Given the description of an element on the screen output the (x, y) to click on. 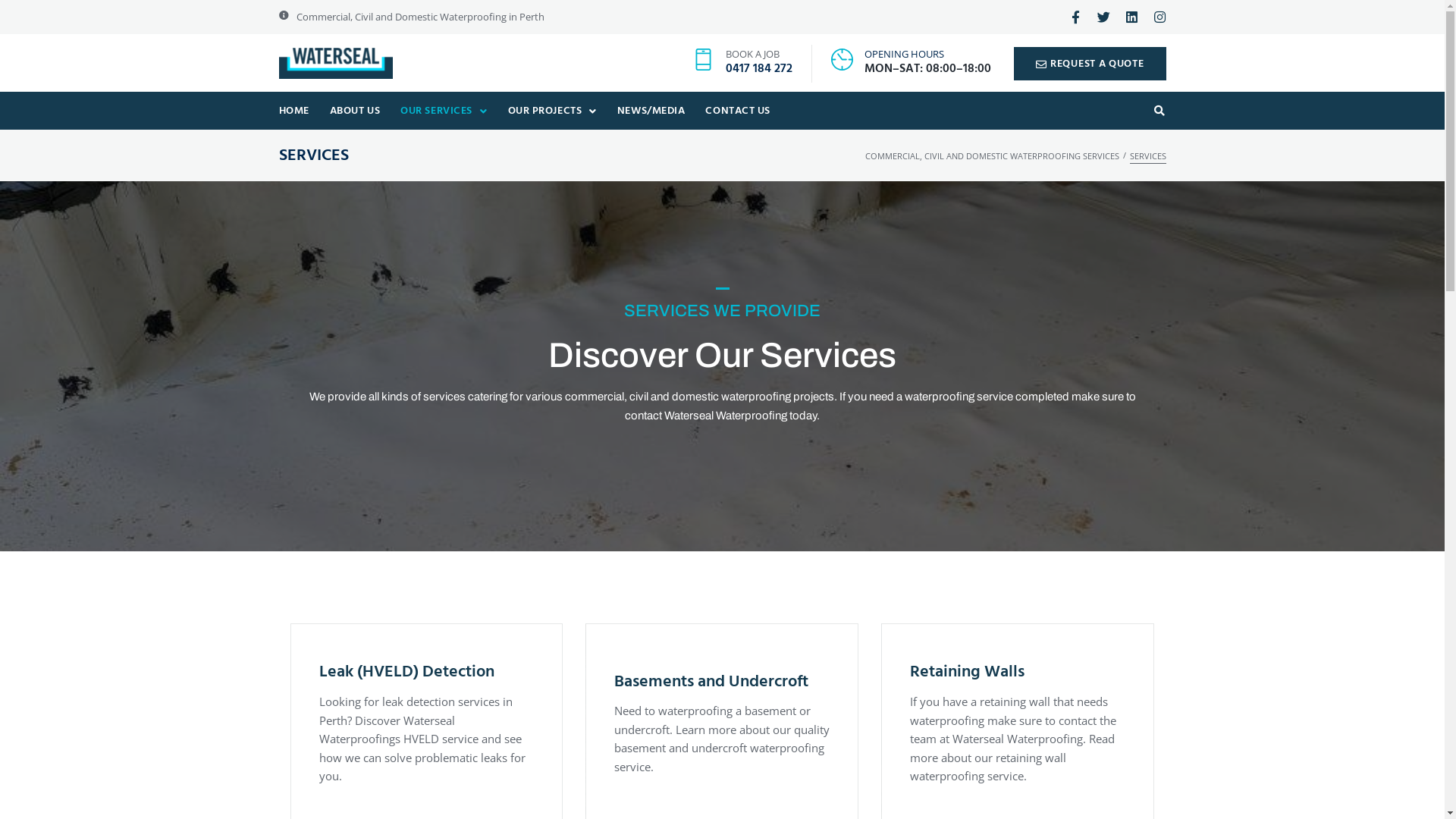
HOME Element type: text (293, 110)
ABOUT US Element type: text (354, 110)
OUR SERVICES Element type: text (442, 110)
0417 184 272 Element type: text (758, 68)
NEWS/MEDIA Element type: text (650, 110)
CONTACT US Element type: text (737, 110)
COMMERCIAL, CIVIL AND DOMESTIC WATERPROOFING SERVICES Element type: text (991, 156)
OUR PROJECTS Element type: text (551, 110)
REQUEST A QUOTE Element type: text (1089, 63)
